Given the description of an element on the screen output the (x, y) to click on. 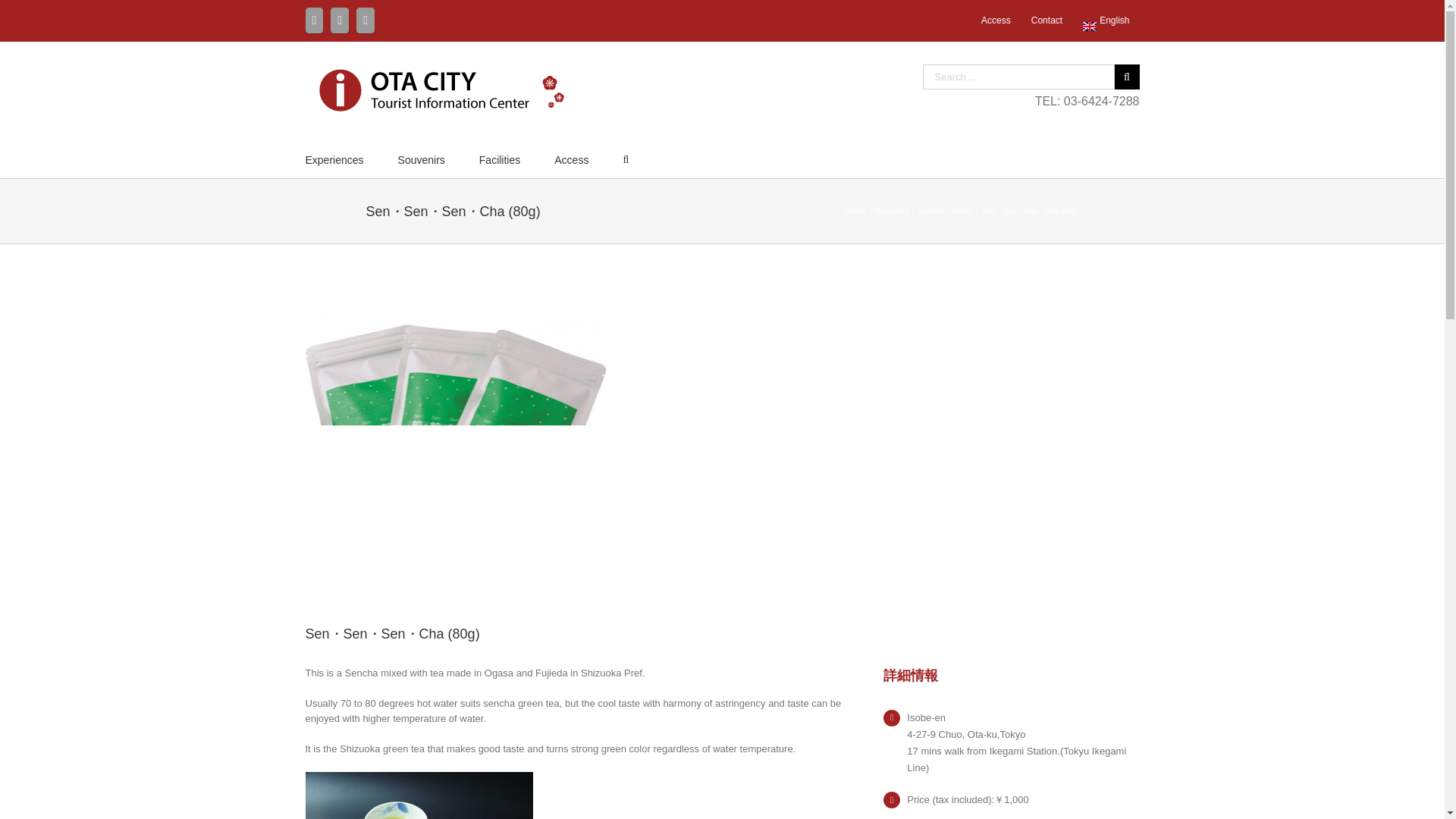
Experiences (333, 158)
Home (855, 210)
Access (571, 158)
English (1105, 20)
Contact (1046, 20)
Facilities (499, 158)
English (1089, 26)
Souvenirs (421, 158)
Access (995, 20)
Souvenirs (891, 210)
